Given the description of an element on the screen output the (x, y) to click on. 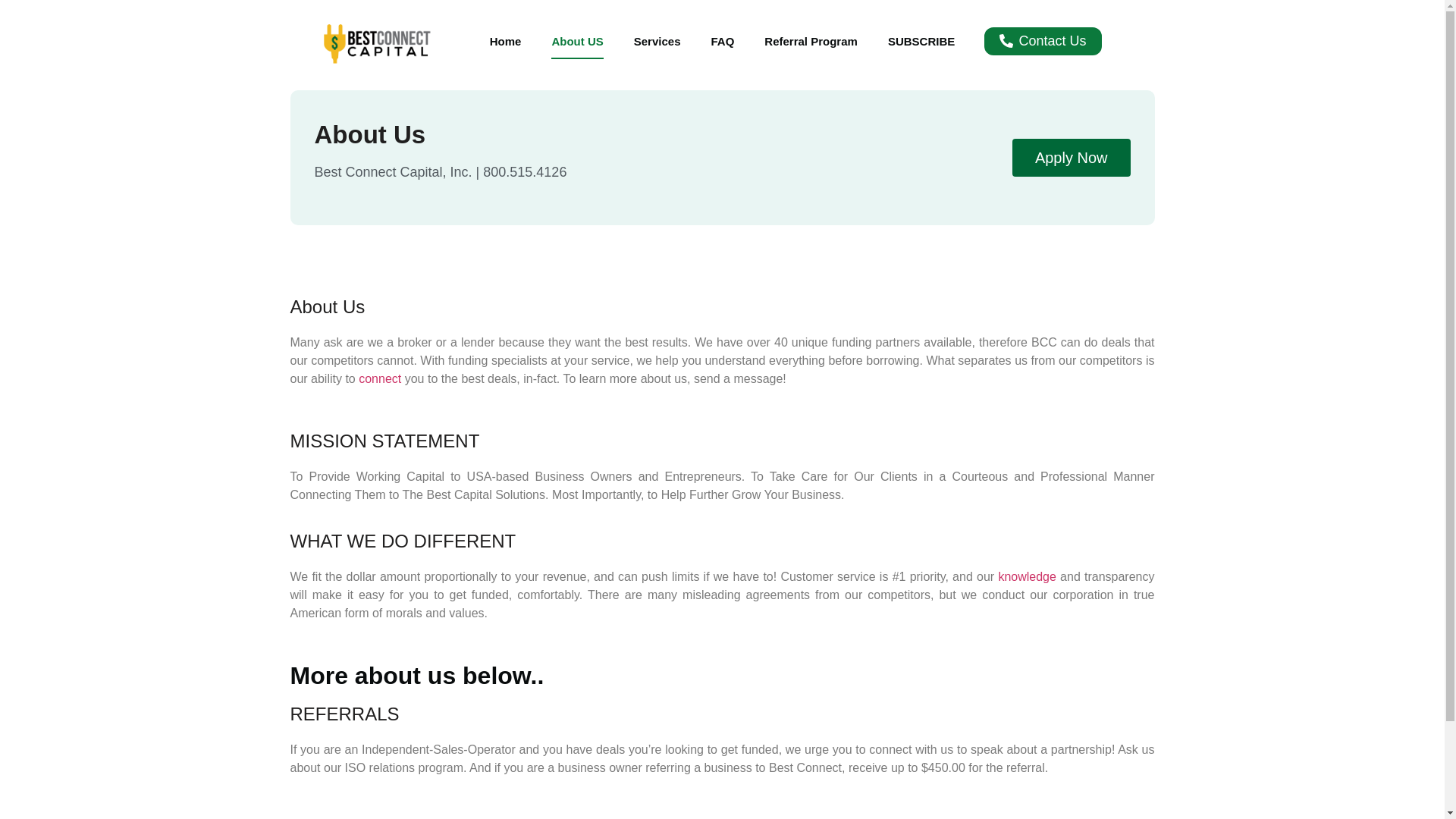
Referral Program (810, 41)
connect  (381, 378)
Contact Us (1042, 41)
Services (657, 41)
SUBSCRIBE (921, 41)
About US (576, 41)
knowledge  (1028, 576)
Apply Now (1071, 157)
Home (505, 41)
